Given the description of an element on the screen output the (x, y) to click on. 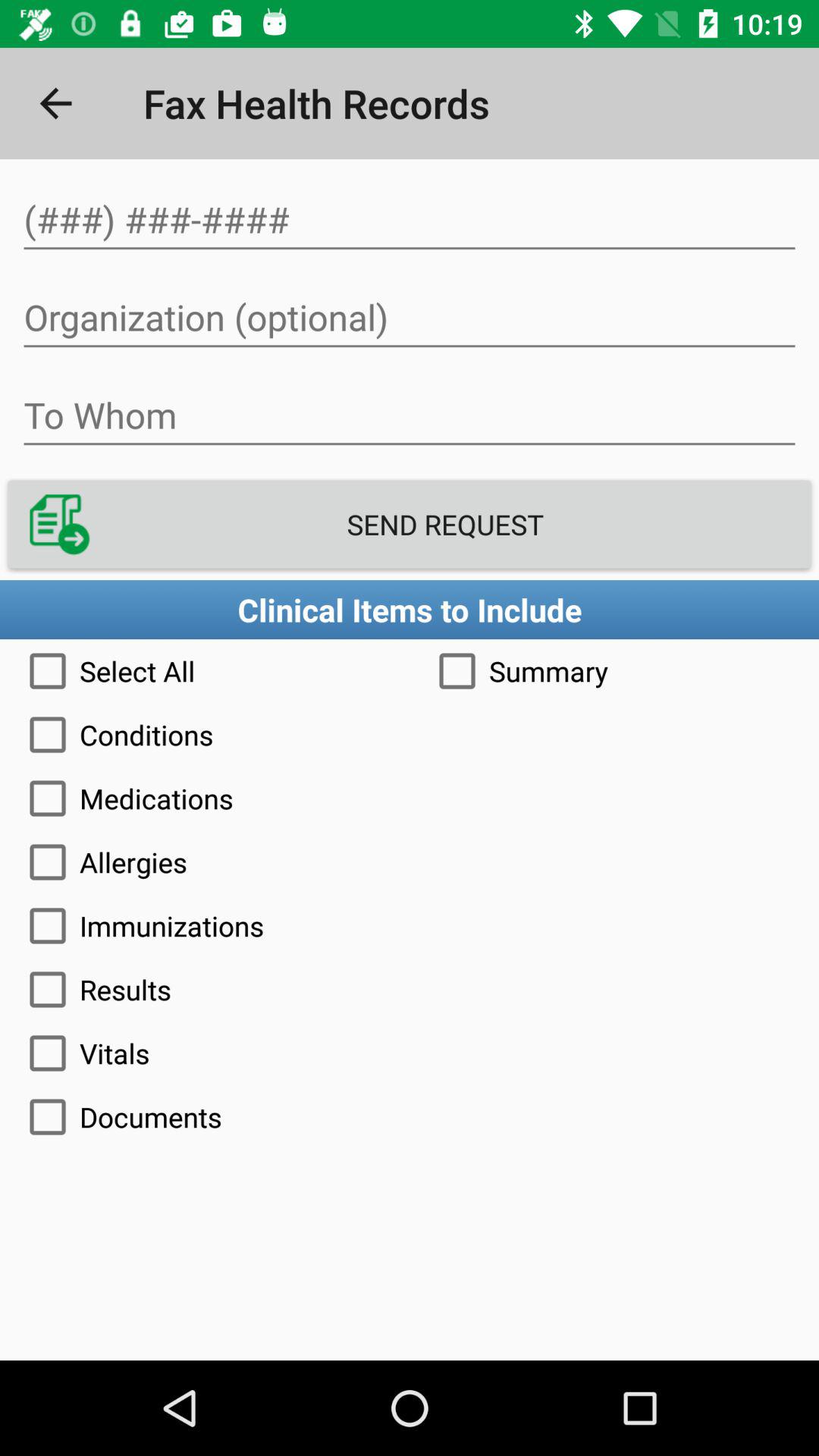
launch icon at the top left corner (55, 103)
